Given the description of an element on the screen output the (x, y) to click on. 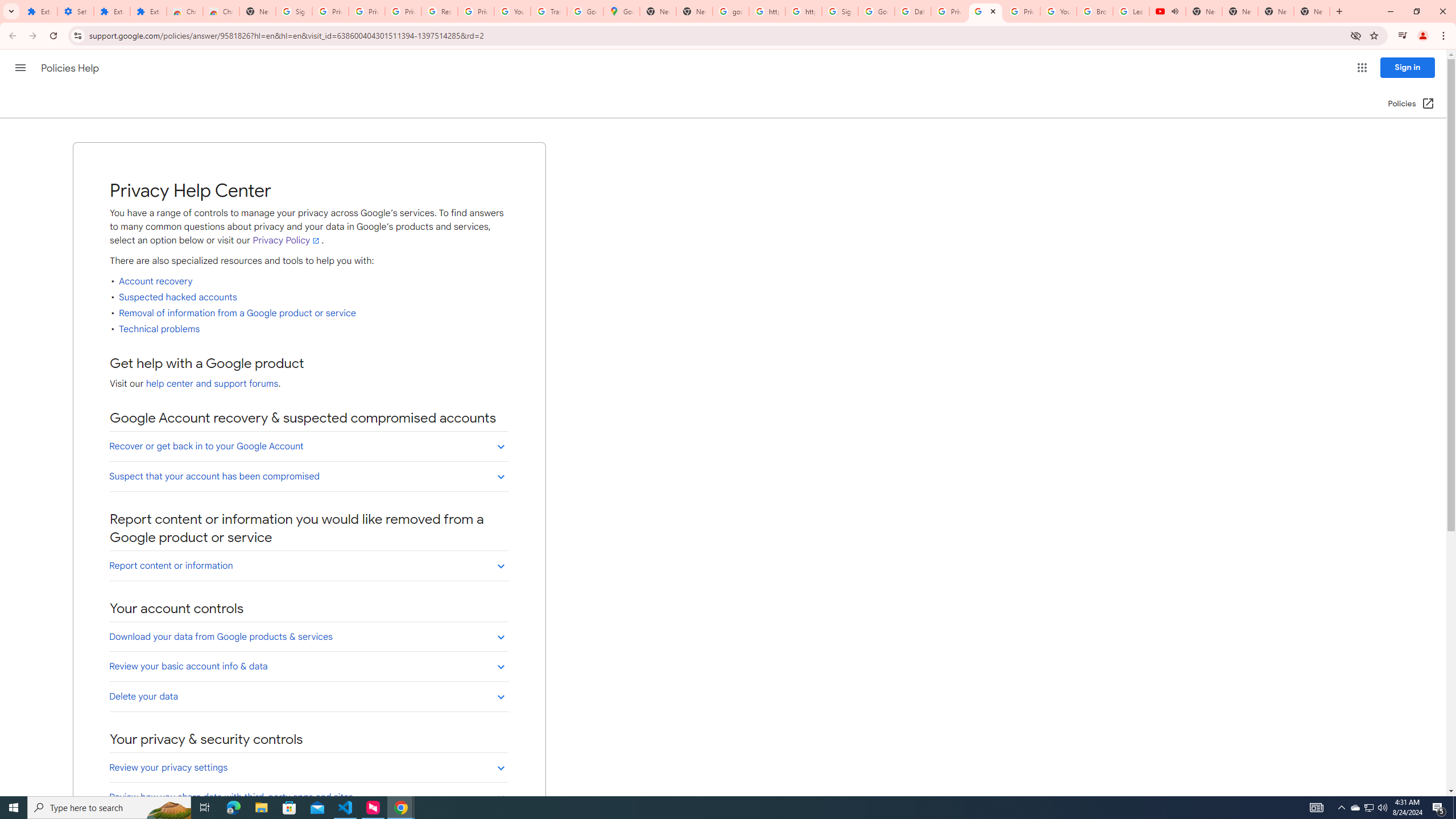
Privacy Policy (286, 240)
Chrome Web Store (184, 11)
Control your music, videos, and more (1402, 35)
Recover or get back in to your Google Account (308, 445)
Removal of information from a Google product or service (237, 313)
